Given the description of an element on the screen output the (x, y) to click on. 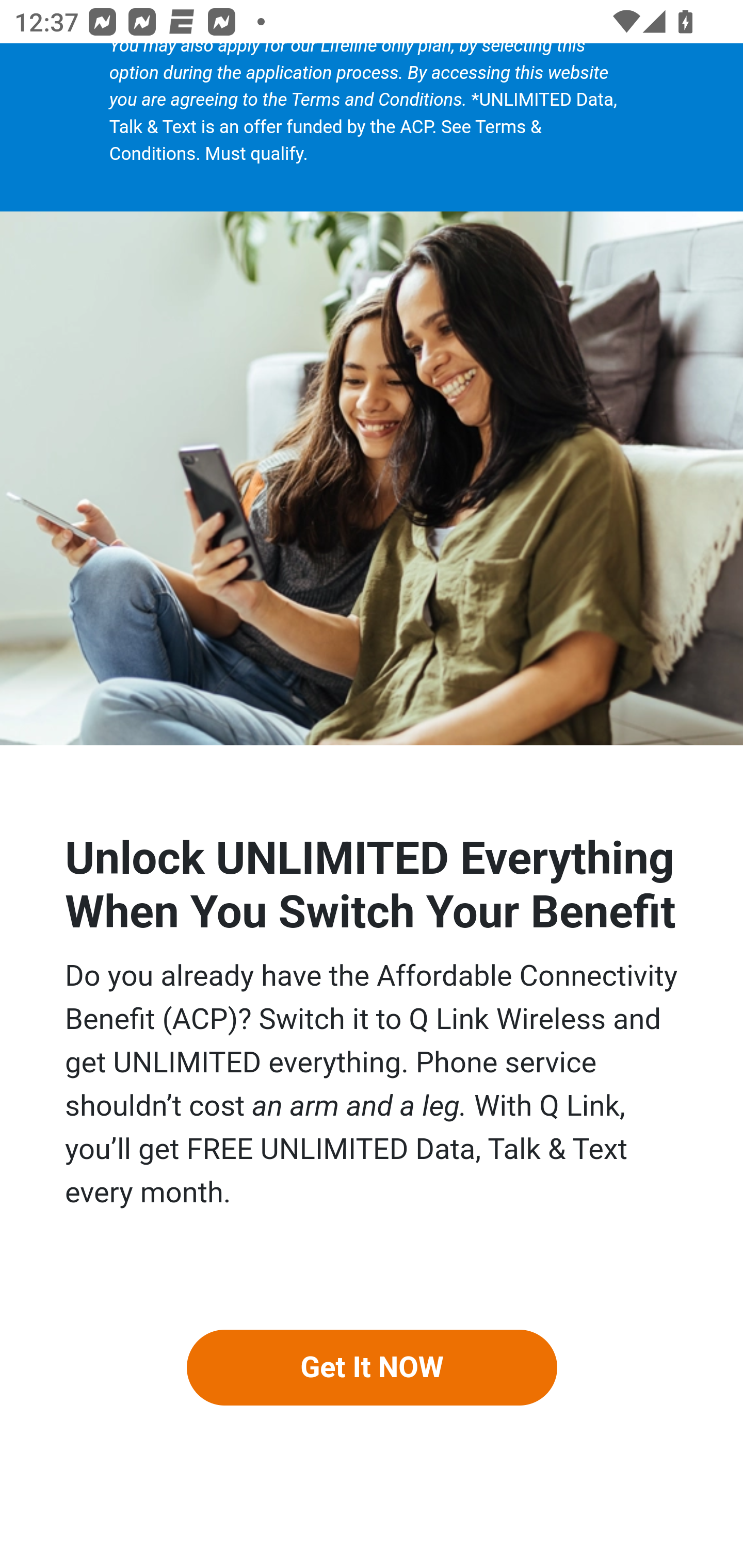
Get It NOW (371, 1367)
